Given the description of an element on the screen output the (x, y) to click on. 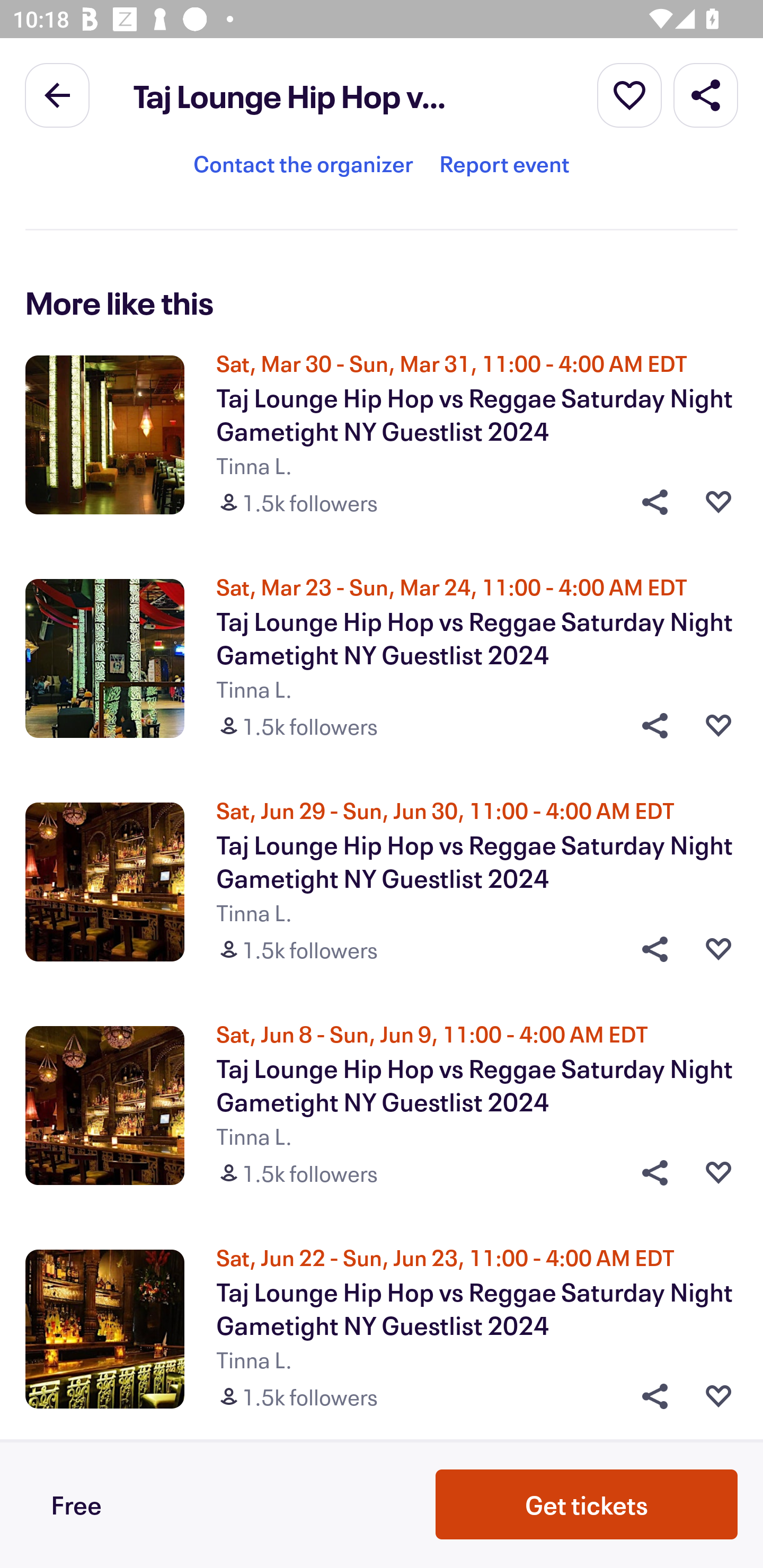
Back (57, 94)
More (629, 94)
Share (705, 94)
Contact the organizer (303, 170)
Report event (504, 170)
Share (648, 502)
Like (718, 502)
Share (648, 725)
Like (718, 725)
Share (648, 949)
Like (718, 949)
Share (648, 1172)
Like (718, 1172)
Share (648, 1395)
Like (718, 1395)
Get tickets (586, 1504)
